Given the description of an element on the screen output the (x, y) to click on. 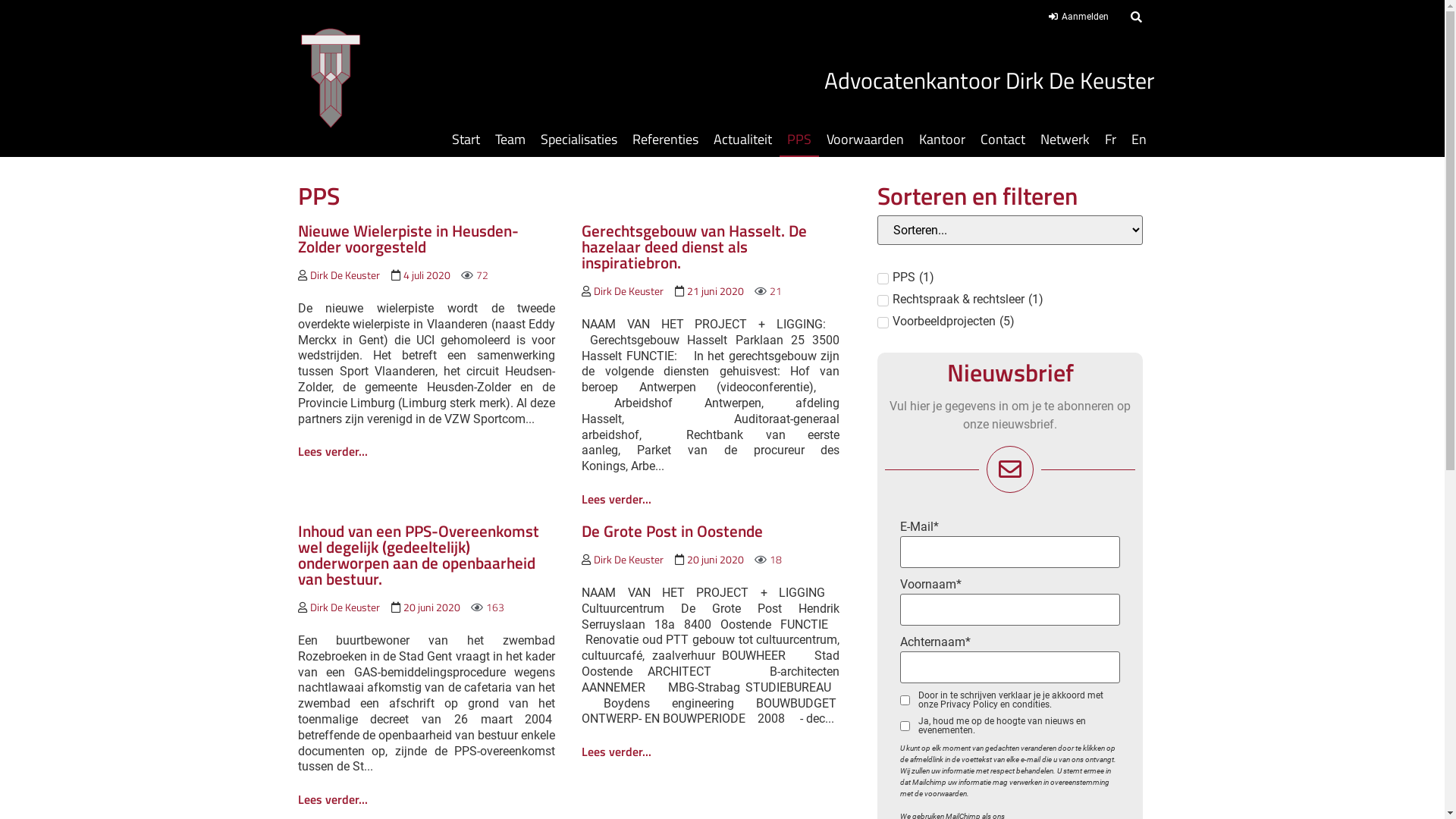
PPS Element type: text (799, 139)
20 juni 2020 Element type: text (431, 607)
De Grote Post in Oostende Element type: text (671, 530)
20 juni 2020 Element type: text (715, 559)
Aanmelden Element type: text (1078, 16)
Lees verder... Element type: text (616, 495)
Contact Element type: text (1002, 139)
Lees verder... Element type: text (332, 447)
Team Element type: text (510, 139)
Dirk De Keuster Element type: text (628, 290)
Netwerk Element type: text (1064, 139)
Dirk De Keuster Element type: text (344, 274)
Kantoor Element type: text (941, 139)
Fr Element type: text (1110, 139)
Actualiteit Element type: text (742, 139)
Specialisaties Element type: text (578, 139)
Dirk De Keuster Element type: text (628, 559)
Lees verder... Element type: text (616, 747)
En Element type: text (1138, 139)
21 juni 2020 Element type: text (715, 290)
Lees verder... Element type: text (332, 795)
Referenties Element type: text (665, 139)
Dirk De Keuster Element type: text (344, 607)
Nieuwe Wielerpiste in Heusden-Zolder voorgesteld Element type: text (407, 238)
Voorwaarden Element type: text (865, 139)
Start Element type: text (465, 139)
4 juli 2020 Element type: text (426, 274)
